Given the description of an element on the screen output the (x, y) to click on. 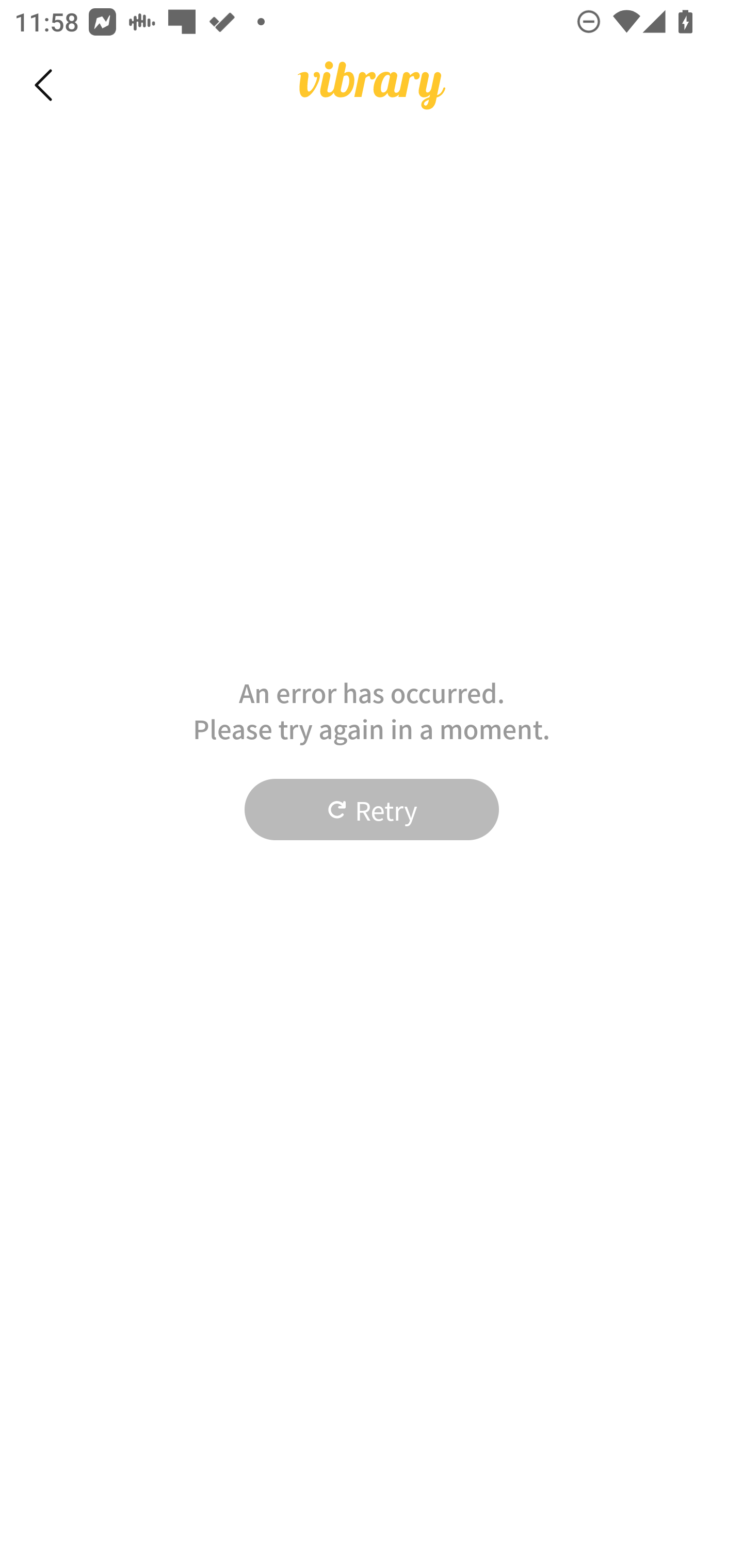
Retry (371, 809)
